Given the description of an element on the screen output the (x, y) to click on. 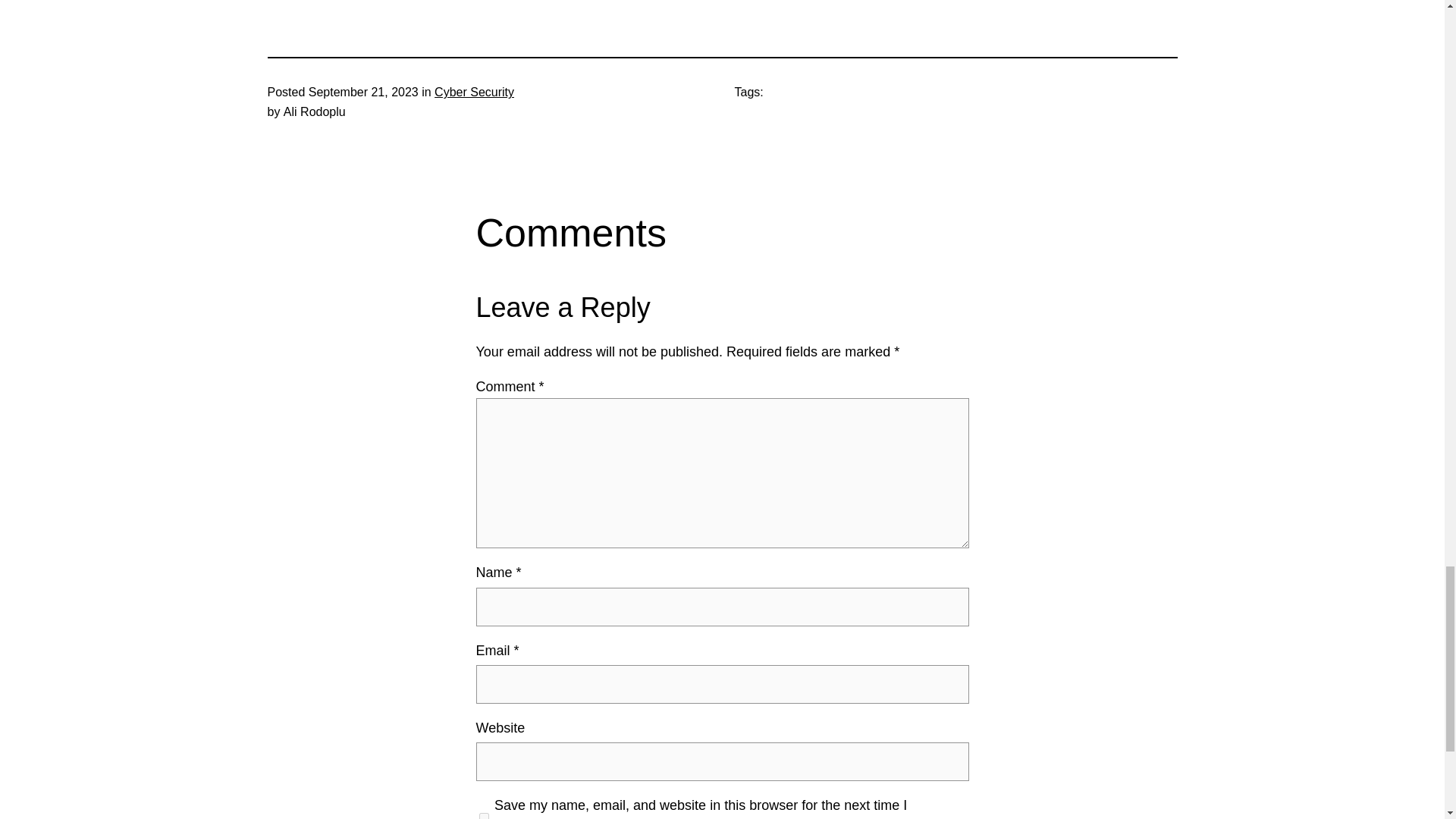
Cyber Security (473, 91)
